Given the description of an element on the screen output the (x, y) to click on. 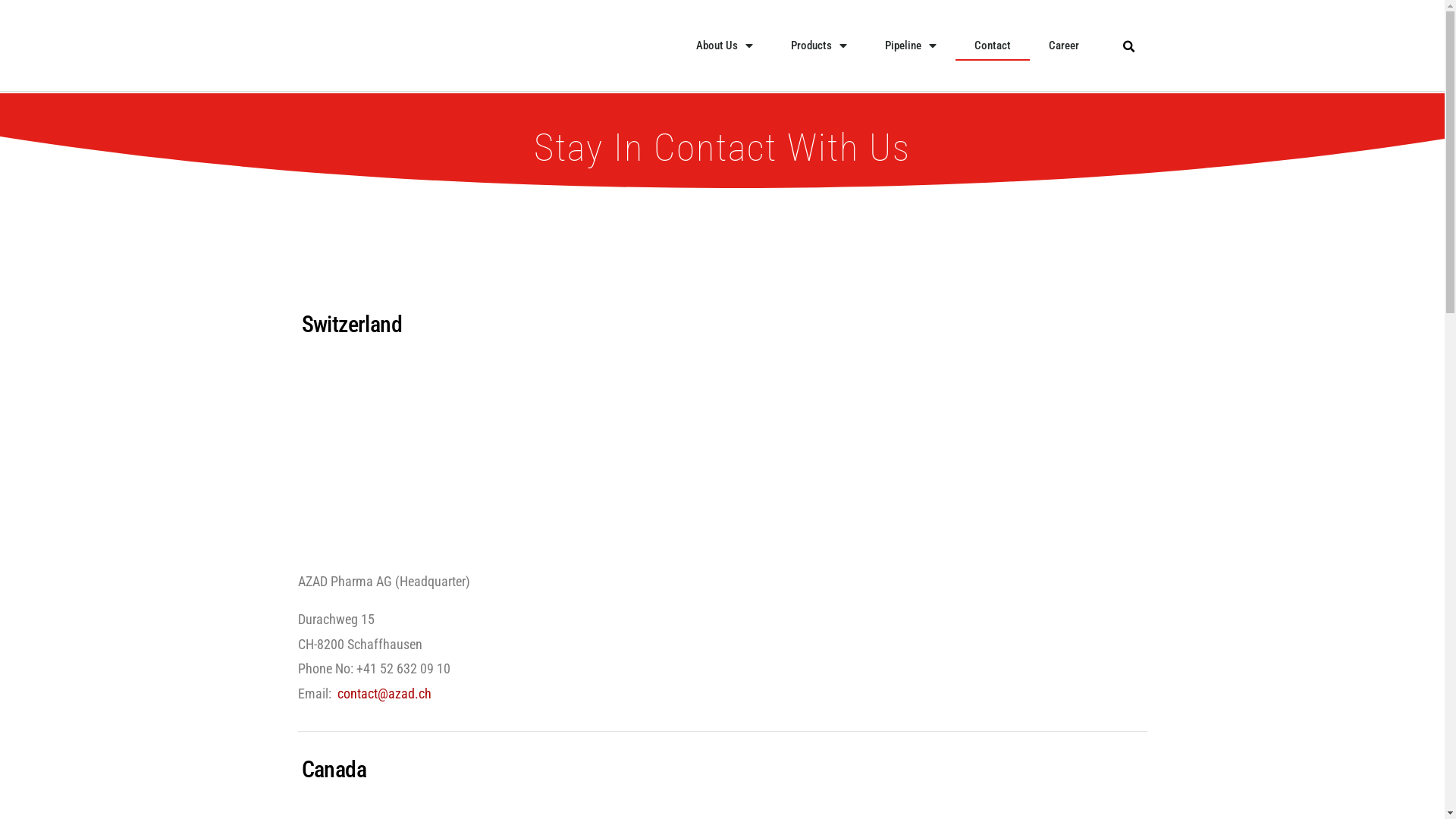
contact@azad.ch Element type: text (383, 693)
Career Element type: text (1063, 45)
Contact Element type: text (992, 45)
About Us Element type: text (724, 45)
Pipeline Element type: text (910, 45)
Products Element type: text (818, 45)
